Given the description of an element on the screen output the (x, y) to click on. 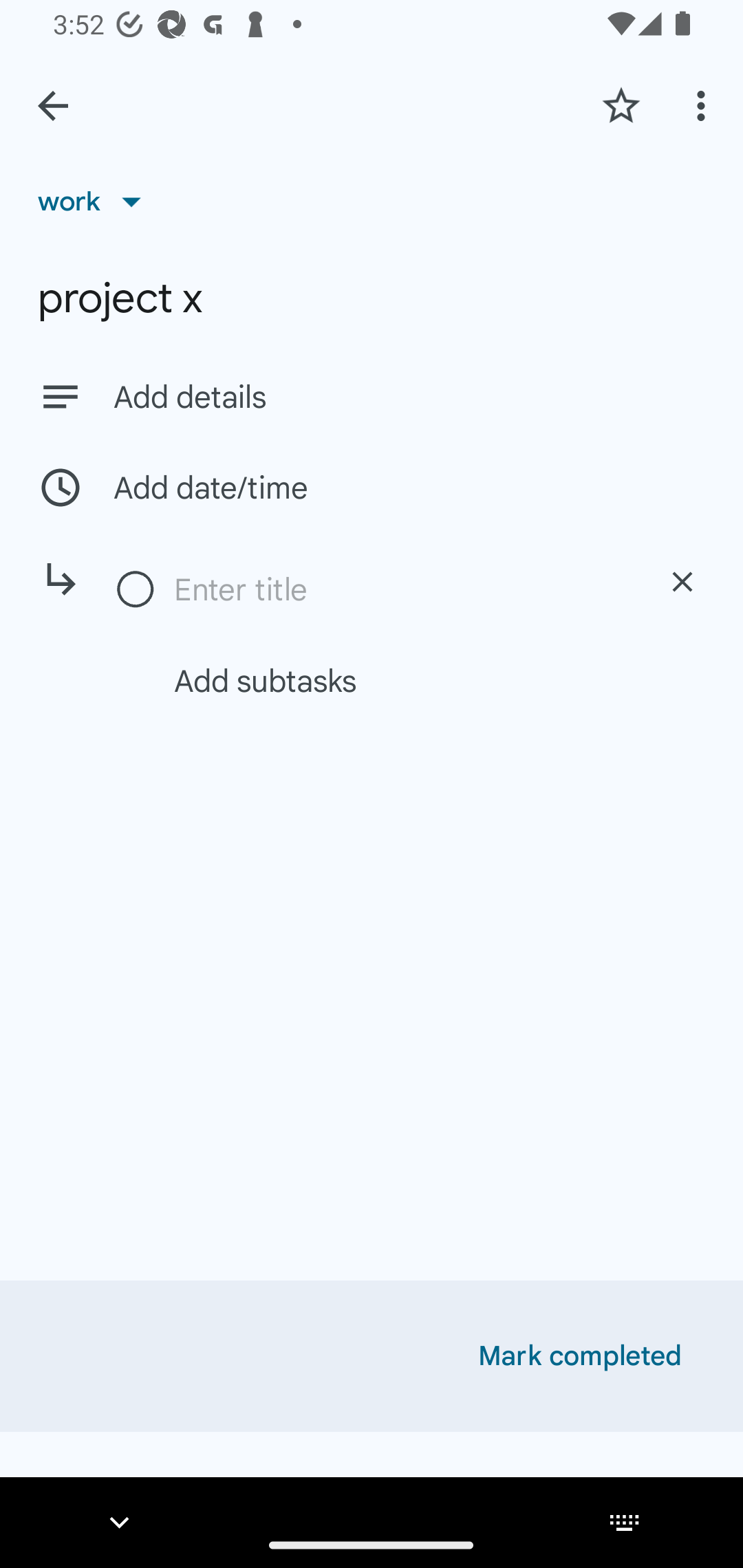
Back (53, 105)
Add star (620, 105)
More options (704, 105)
work List, work selected, 1 of 11 (95, 201)
project x (371, 298)
Add details (371, 396)
Add details (409, 397)
Add date/time (371, 487)
Enter title (401, 589)
Delete subtask (682, 581)
Mark as complete (136, 590)
Add subtasks (394, 680)
Mark completed (580, 1355)
